Given the description of an element on the screen output the (x, y) to click on. 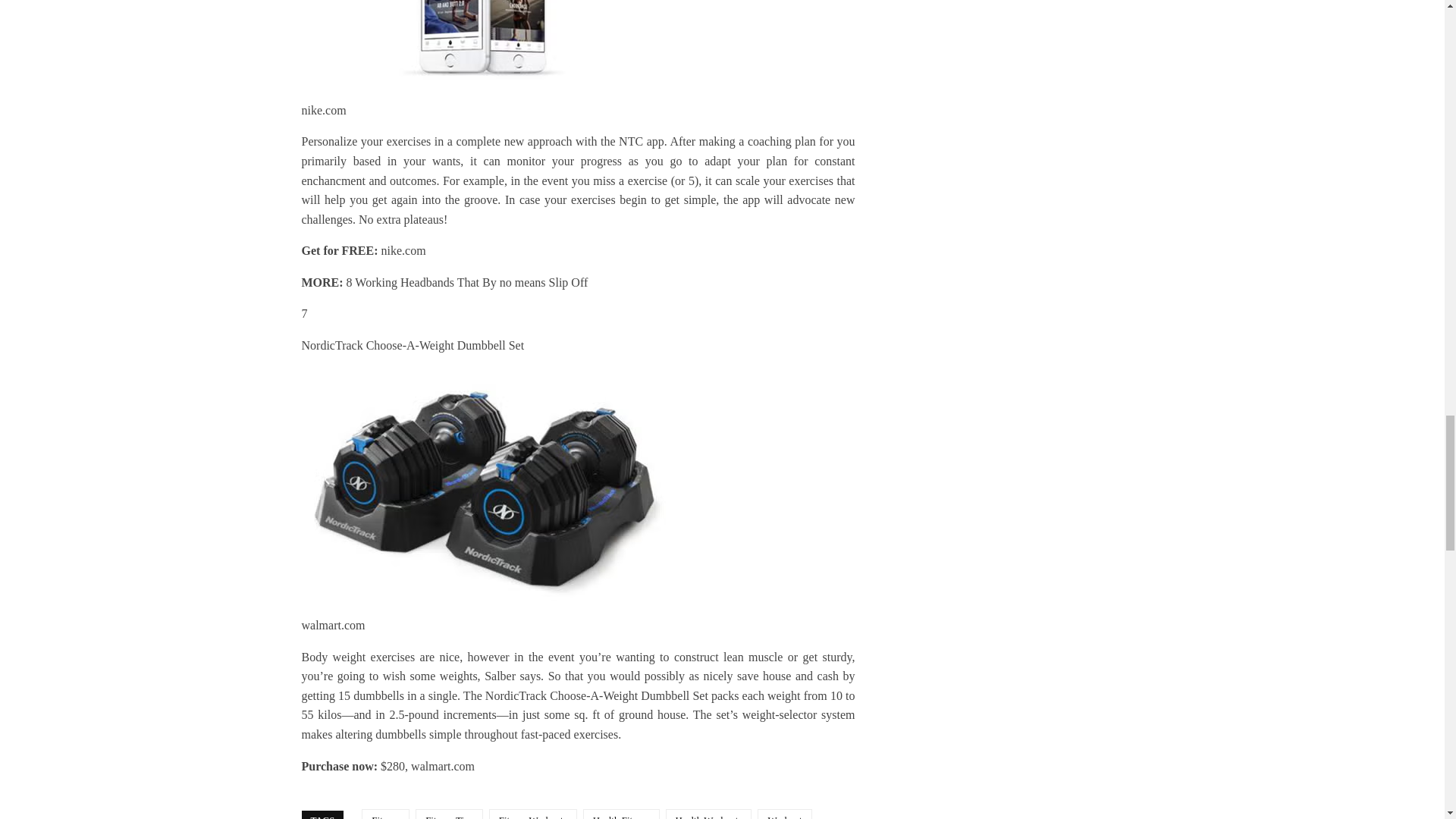
Fitness Workouts (532, 814)
Fitness Tips (448, 814)
View all posts tagged Fitness Tips (448, 814)
View all posts tagged Fitness Workouts (532, 814)
View all posts tagged Fitness (385, 814)
Fitness (385, 814)
View all posts tagged Health Fitness (621, 814)
Health Fitness (621, 814)
View all posts tagged Workout (783, 814)
View all posts tagged Health Workouts (708, 814)
Health Workouts (708, 814)
